Given the description of an element on the screen output the (x, y) to click on. 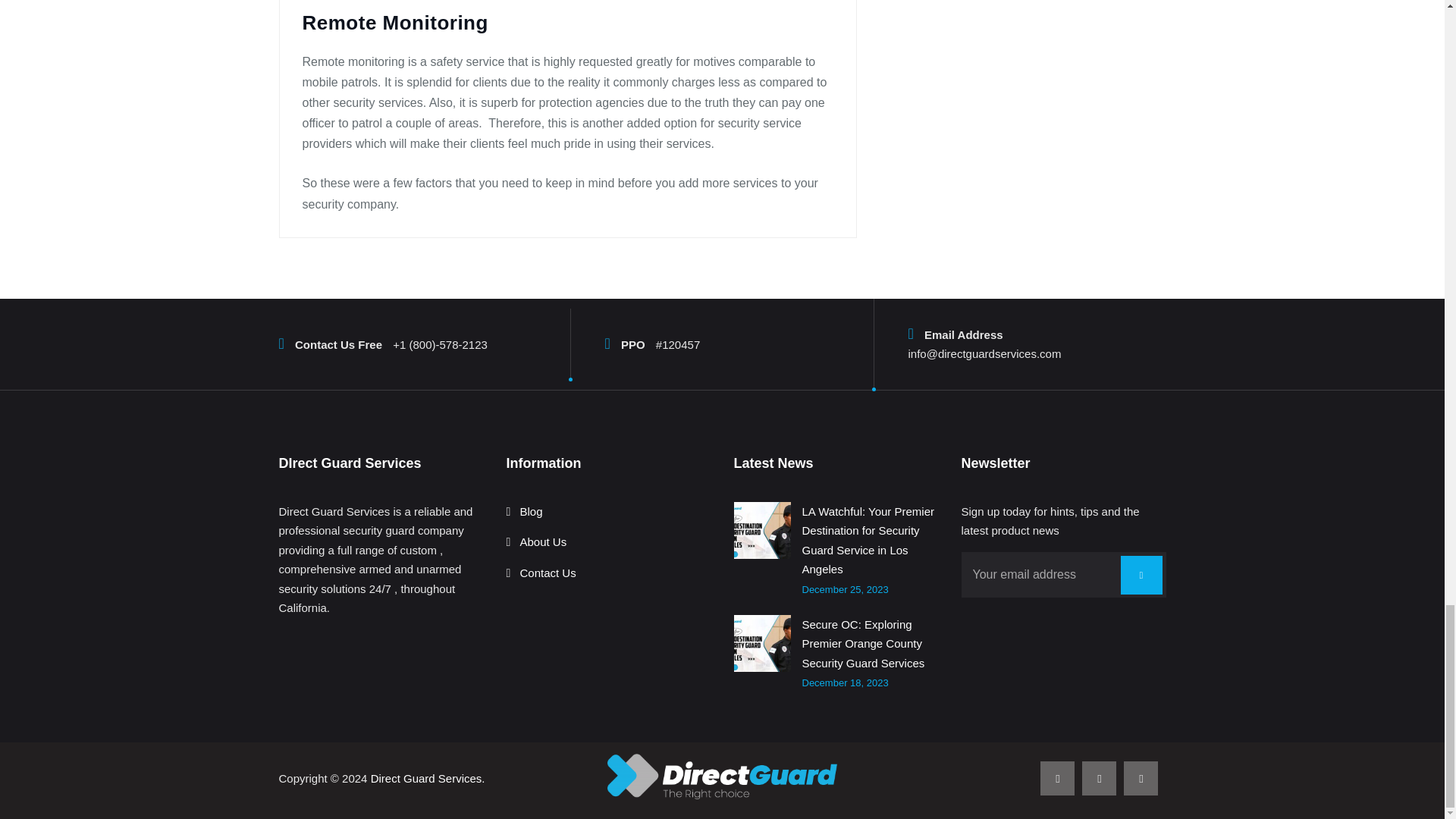
Direct Guard Services (722, 776)
